Given the description of an element on the screen output the (x, y) to click on. 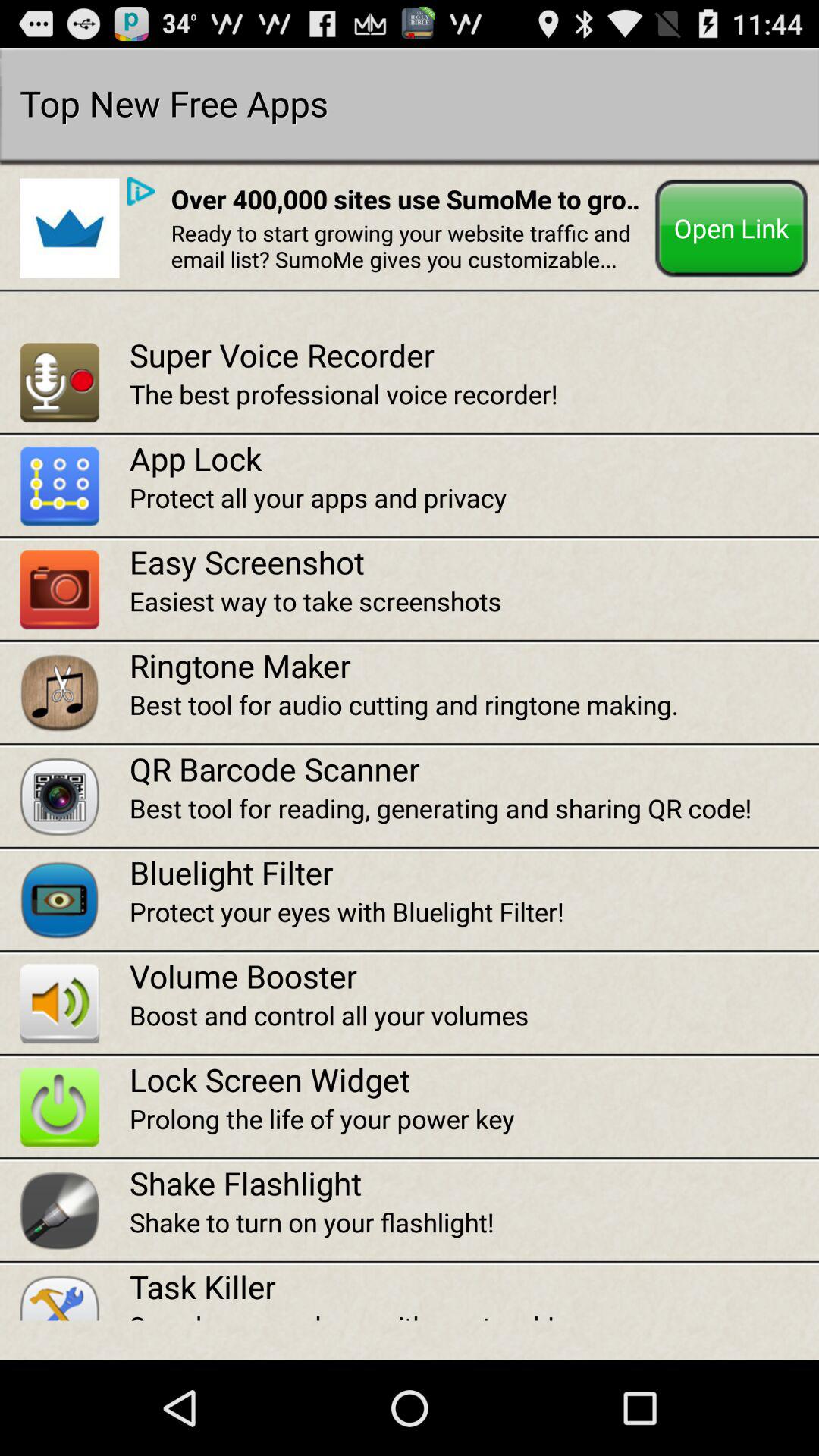
press speed up your (474, 1314)
